Given the description of an element on the screen output the (x, y) to click on. 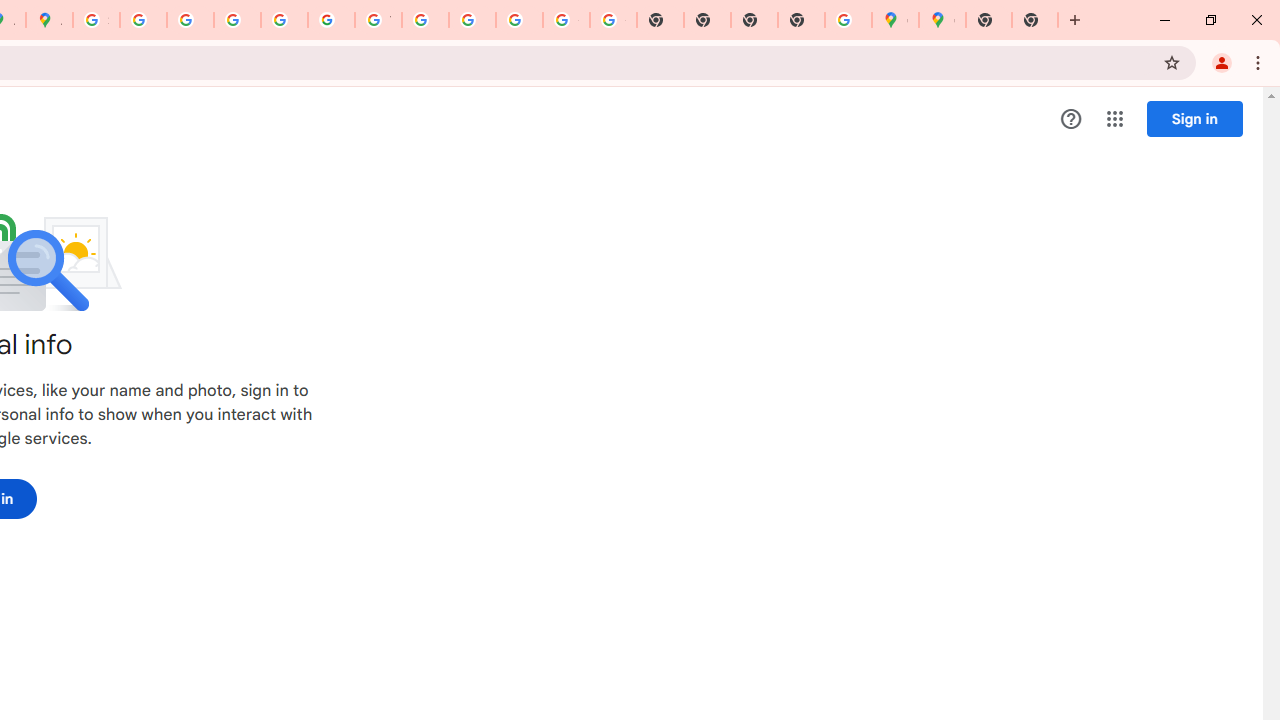
New Tab (1035, 20)
Google Maps (895, 20)
New Tab (801, 20)
Google Maps (942, 20)
Privacy Help Center - Policies Help (237, 20)
